Given the description of an element on the screen output the (x, y) to click on. 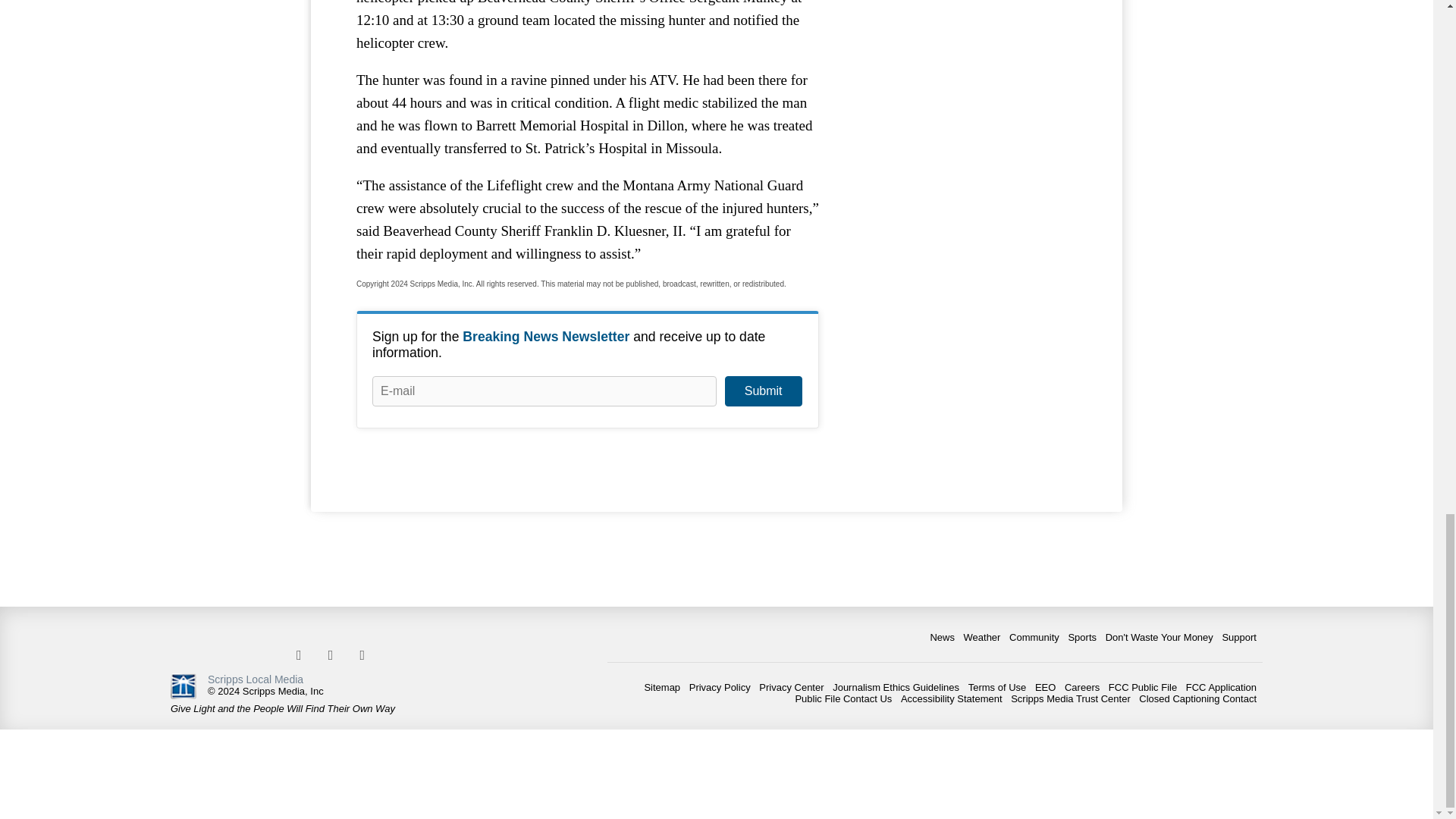
Submit (763, 390)
